Given the description of an element on the screen output the (x, y) to click on. 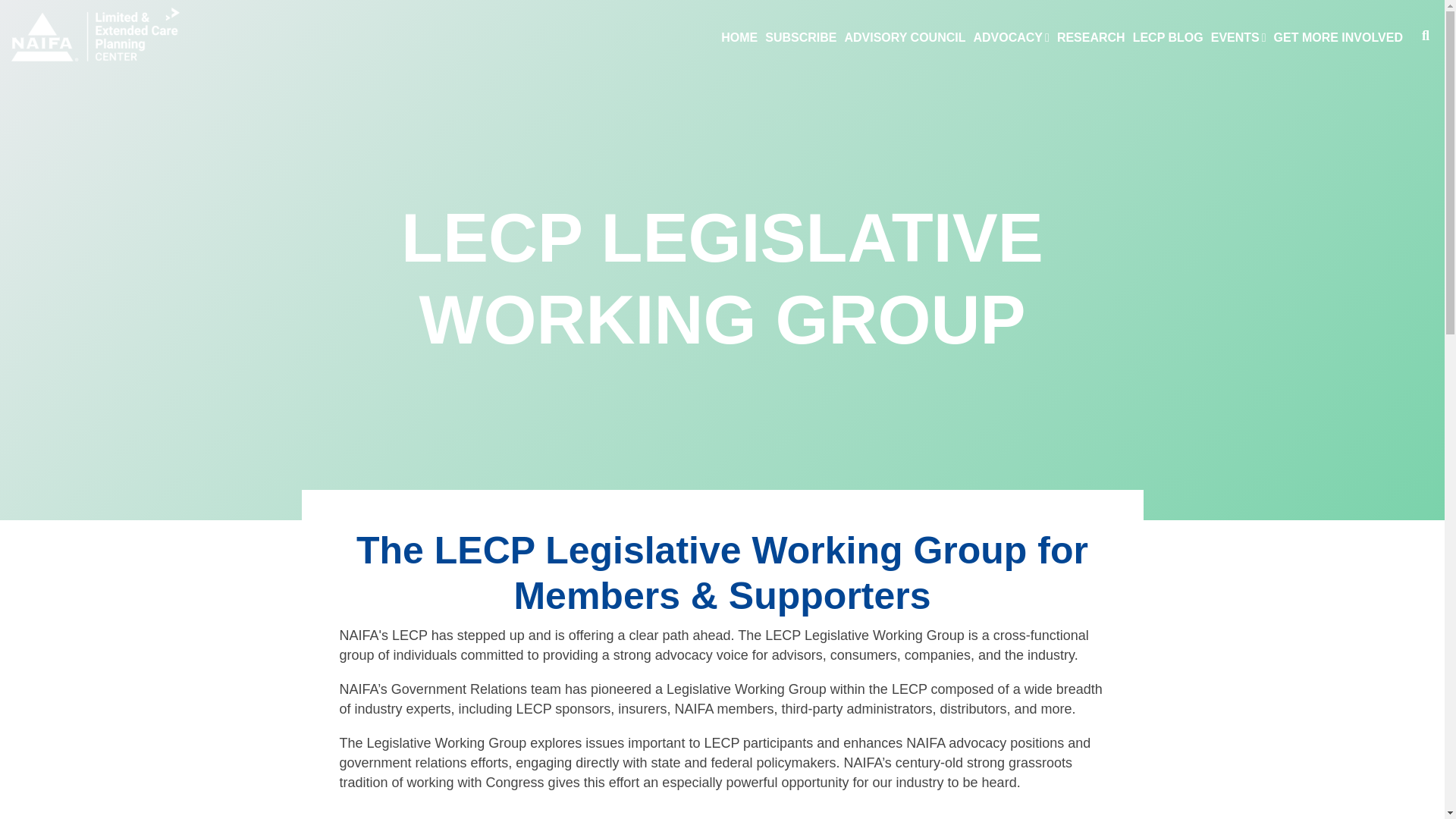
HOME (739, 37)
ADVOCACY (1010, 37)
SUBSCRIBE (800, 37)
ADVISORY COUNCIL (904, 37)
LECP BLOG (1168, 37)
GET MORE INVOLVED (1337, 37)
EVENTS (1238, 37)
RESEARCH (1090, 37)
